Given the description of an element on the screen output the (x, y) to click on. 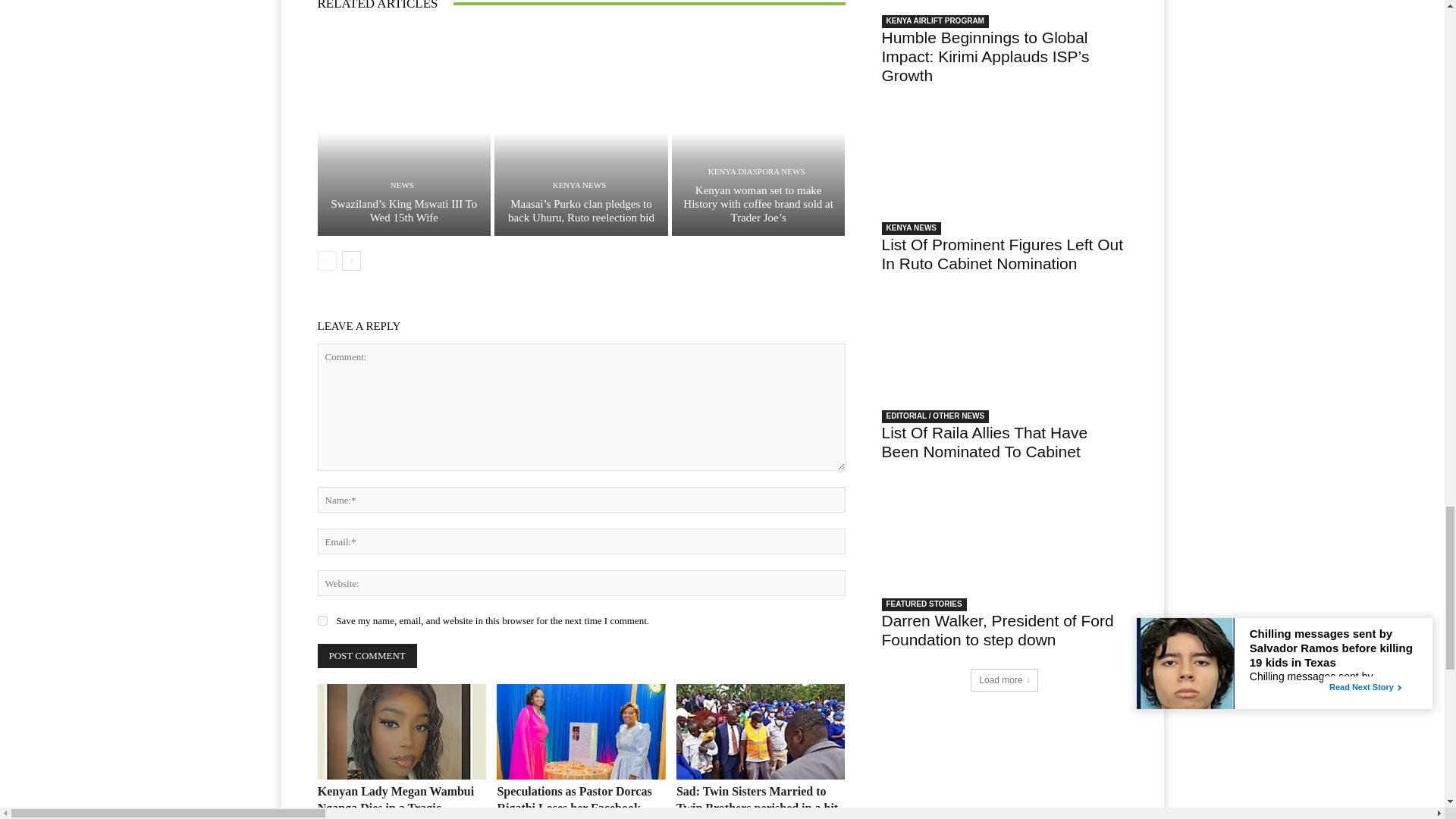
Post Comment (366, 655)
yes (321, 620)
